Given the description of an element on the screen output the (x, y) to click on. 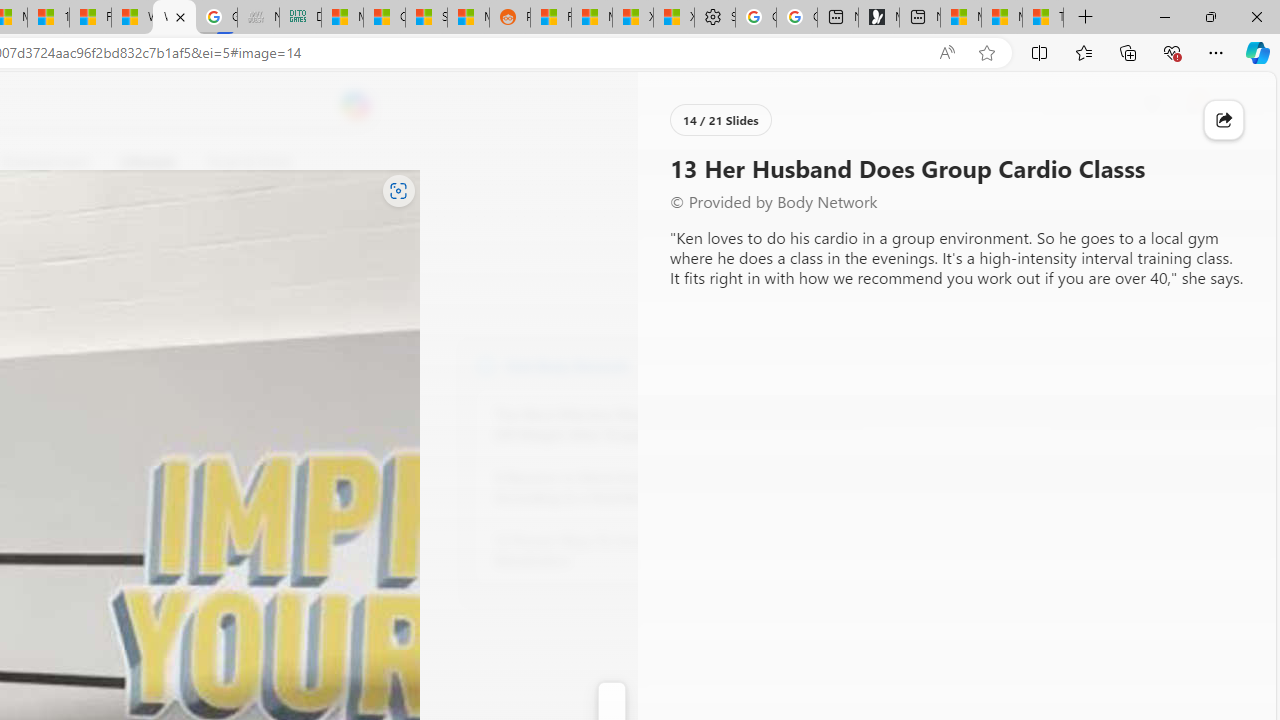
These 3 Stocks Pay You More Than 5% to Own Them (1042, 17)
Class: at-item immersive (1224, 120)
Food & Drink (240, 162)
